Given the description of an element on the screen output the (x, y) to click on. 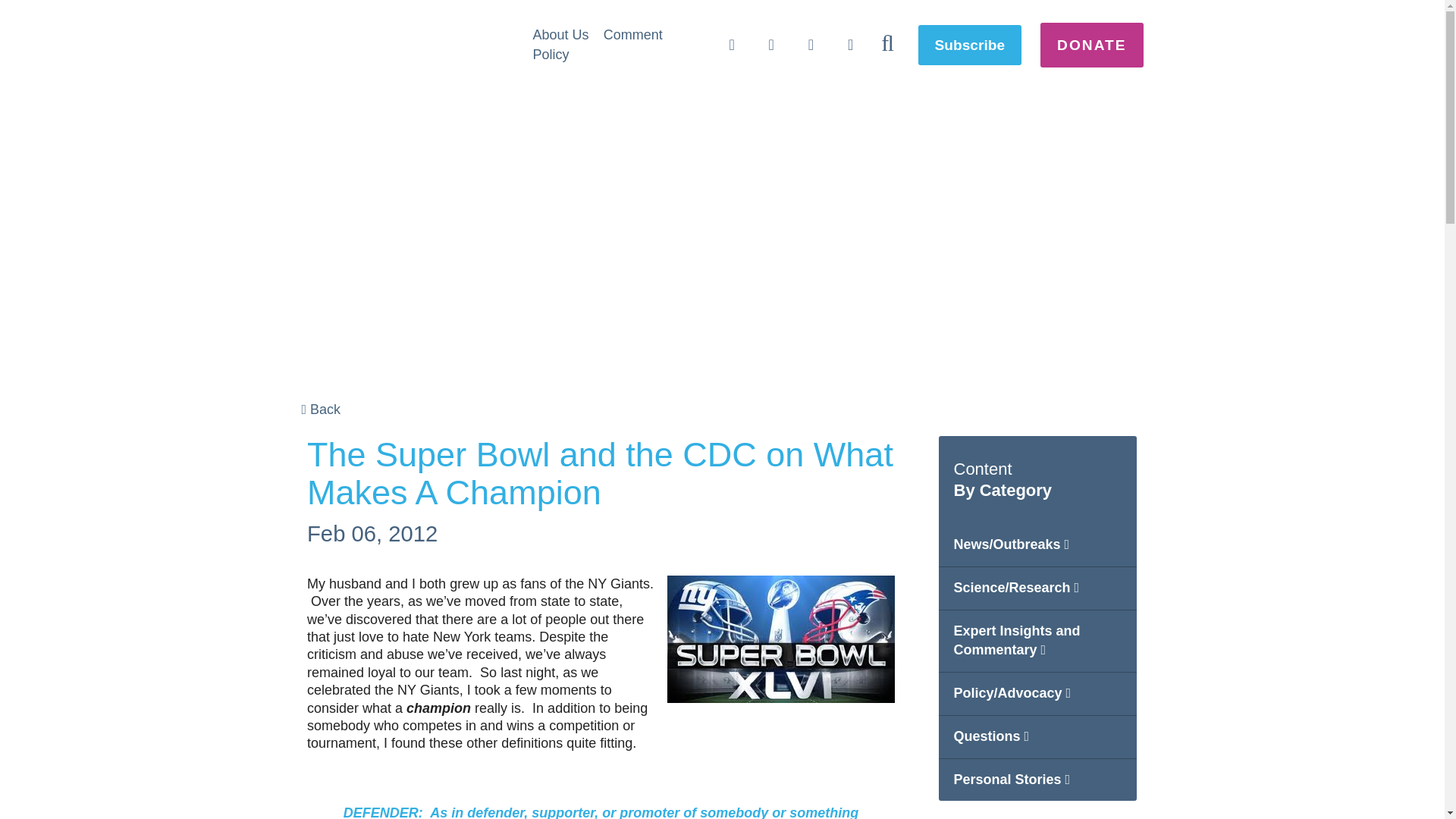
Questions (1038, 737)
Subscribe (970, 45)
Comment Policy (597, 44)
Expert Insights and Commentary (1038, 641)
Back (320, 409)
DONATE (1091, 44)
About Us (560, 34)
Personal Stories (1038, 780)
superbowl (780, 638)
